Given the description of an element on the screen output the (x, y) to click on. 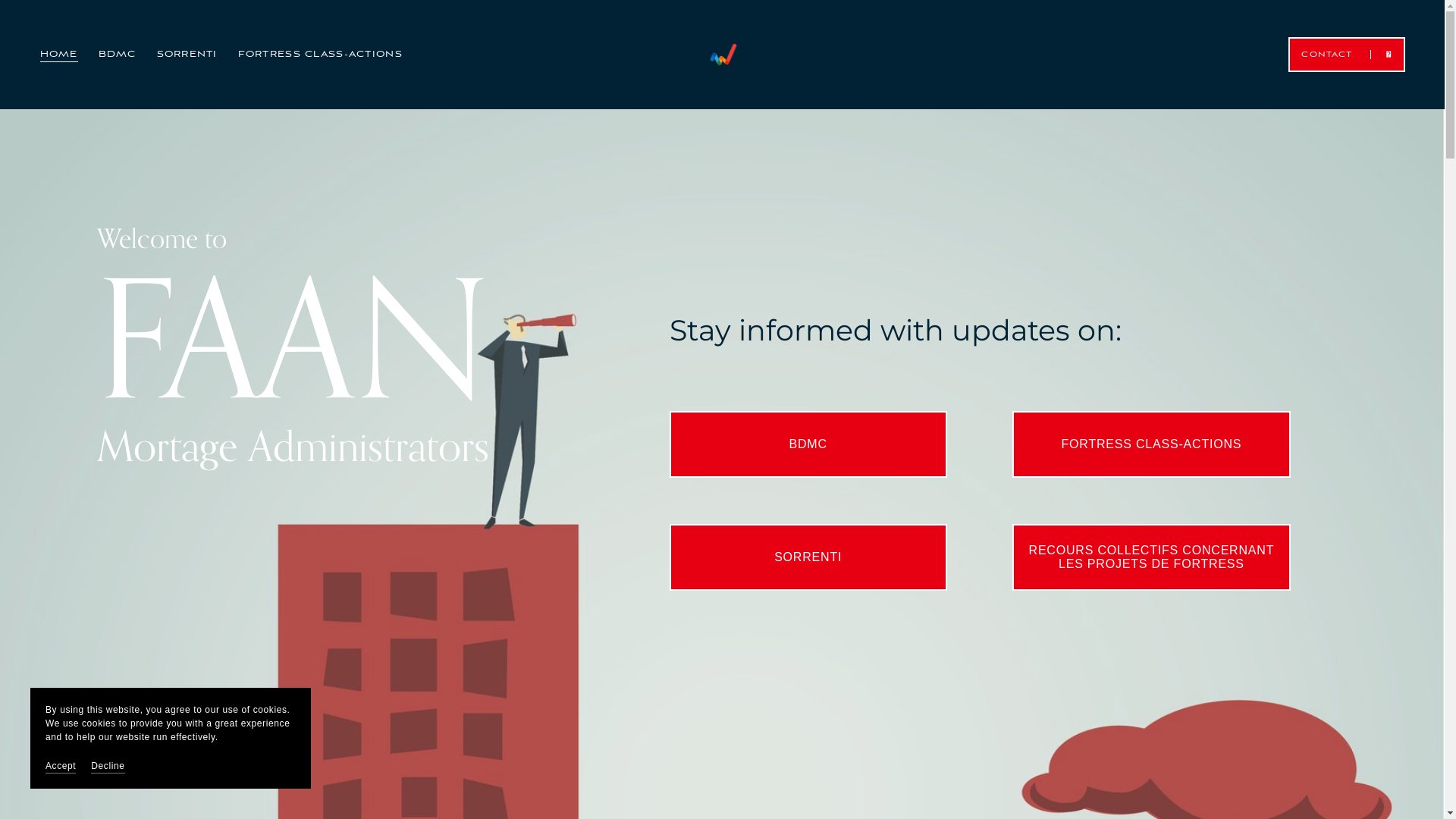
SORRENTI Element type: text (186, 53)
FORTRESS CLASS-ACTIONS Element type: text (320, 53)
FORTRESS CLASS-ACTIONS Element type: text (1150, 444)
BDMC Element type: text (117, 53)
BDMC Element type: text (808, 444)
Accept Element type: text (60, 766)
Decline Element type: text (107, 766)
CONTACT Element type: text (1346, 54)
HOME Element type: text (58, 53)
RECOURS COLLECTIFS CONCERNANT LES PROJETS DE FORTRESS Element type: text (1150, 557)
SORRENTI Element type: text (808, 557)
